Given the description of an element on the screen output the (x, y) to click on. 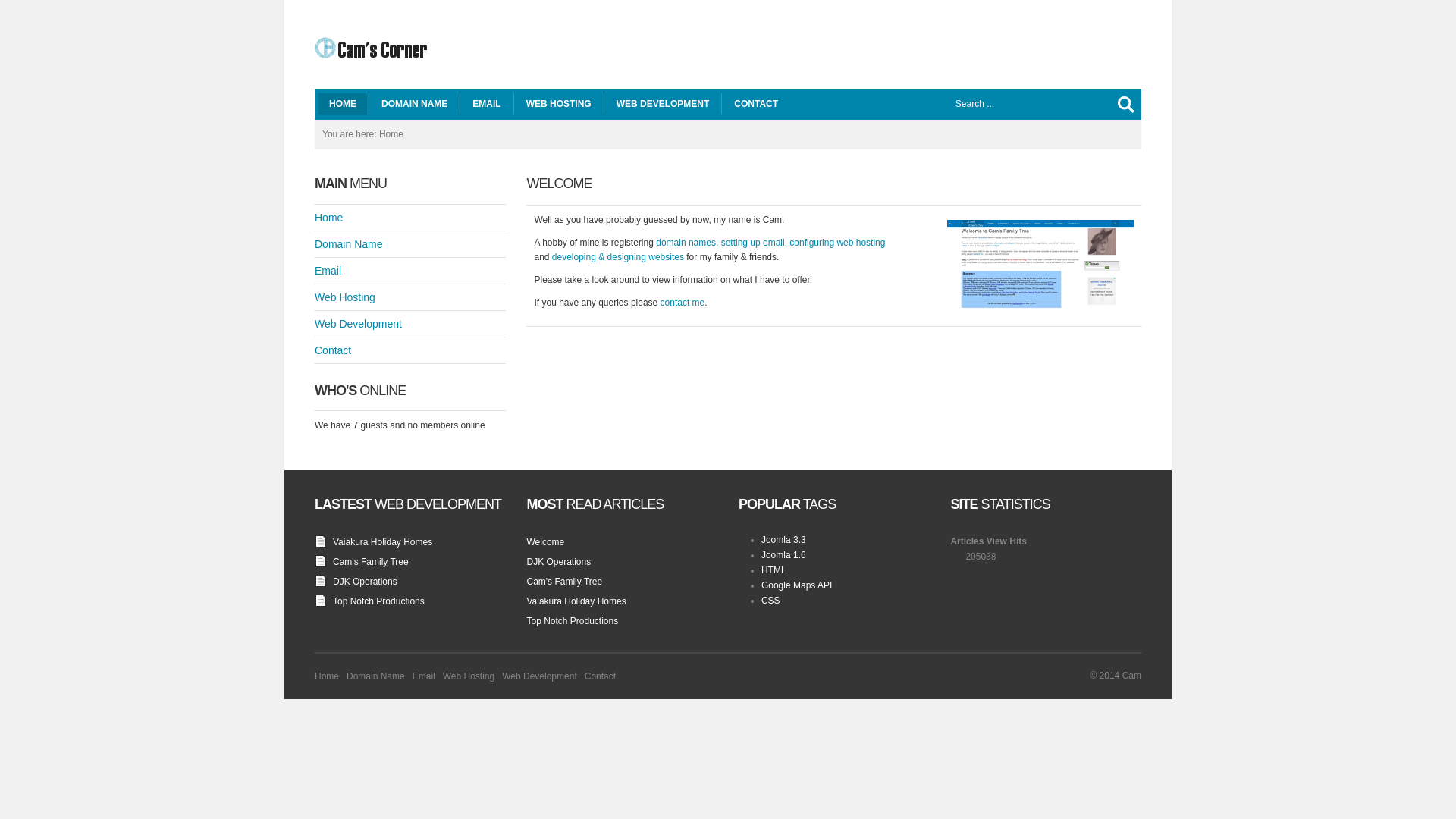
Email Element type: text (423, 676)
HOME Element type: text (342, 103)
contact me Element type: text (682, 302)
Web Development Element type: text (409, 323)
Search Element type: text (1125, 104)
DJK Operations Element type: text (558, 561)
Web Development Element type: text (539, 676)
Web Hosting Element type: text (468, 676)
Vaiakura Holiday Homes Element type: text (575, 601)
Vaiakura Holiday Homes Element type: text (382, 541)
configuring web hosting Element type: text (836, 242)
Welcome Element type: text (545, 541)
WEB HOSTING Element type: text (558, 103)
Contact Element type: text (409, 350)
Domain Name Element type: text (375, 676)
Top Notch Productions Element type: text (378, 601)
Home Element type: text (326, 676)
Email Element type: text (409, 270)
WEB DEVELOPMENT Element type: text (662, 103)
Contact Element type: text (599, 676)
Home Element type: text (409, 217)
Domain Name Element type: text (409, 244)
CONTACT Element type: text (755, 103)
CSS Element type: text (770, 600)
Joomla 3.3 Element type: text (783, 539)
Cam's Family Tree Element type: text (370, 561)
Web Hosting Element type: text (409, 297)
HTML Element type: text (773, 569)
DOMAIN NAME Element type: text (414, 103)
setting up email Element type: text (752, 242)
Cam's Family Tree Element type: text (564, 581)
Google Maps API Element type: text (796, 585)
EMAIL Element type: text (486, 103)
domain names Element type: text (685, 242)
Top Notch Productions Element type: text (572, 620)
Joomla 1.6 Element type: text (783, 554)
DJK Operations Element type: text (364, 581)
developing & designing websites Element type: text (618, 256)
